Given the description of an element on the screen output the (x, y) to click on. 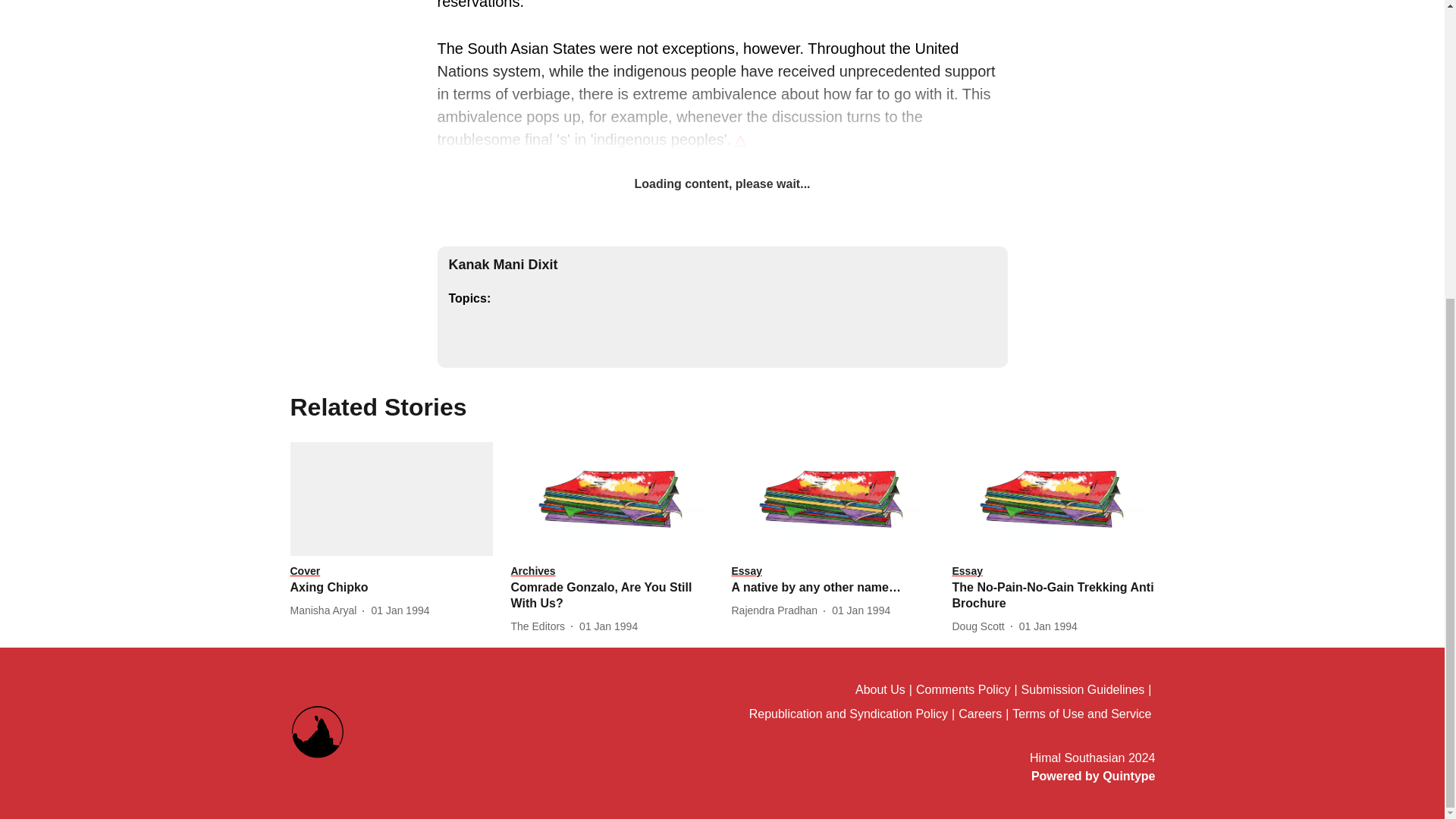
1994-01-01 07:04 (860, 610)
Cover (390, 571)
The Editors (541, 626)
Essay (831, 571)
1994-01-01 11:13 (400, 610)
Comrade Gonzalo, Are You Still With Us? (612, 595)
Axing Chipko (390, 587)
1994-01-01 11:09 (608, 626)
Manisha Aryal (325, 610)
Kanak Mani Dixit (502, 264)
